Given the description of an element on the screen output the (x, y) to click on. 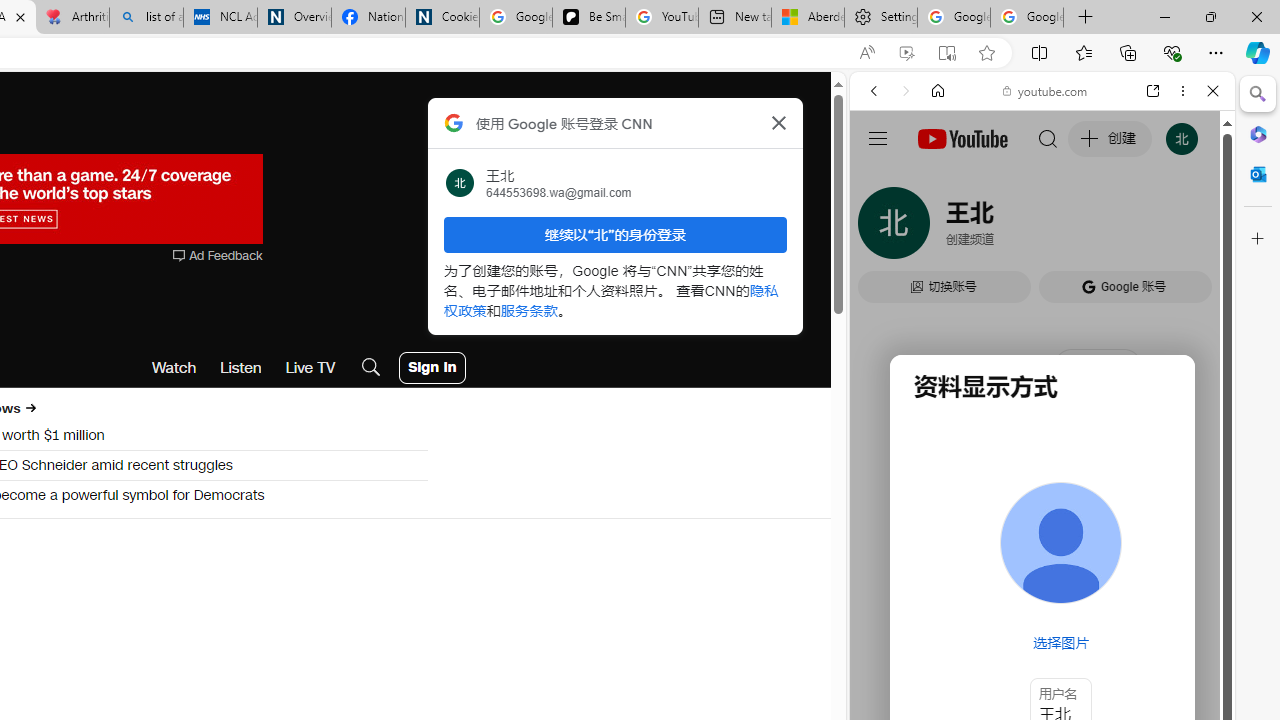
Search Icon (371, 367)
